Given the description of an element on the screen output the (x, y) to click on. 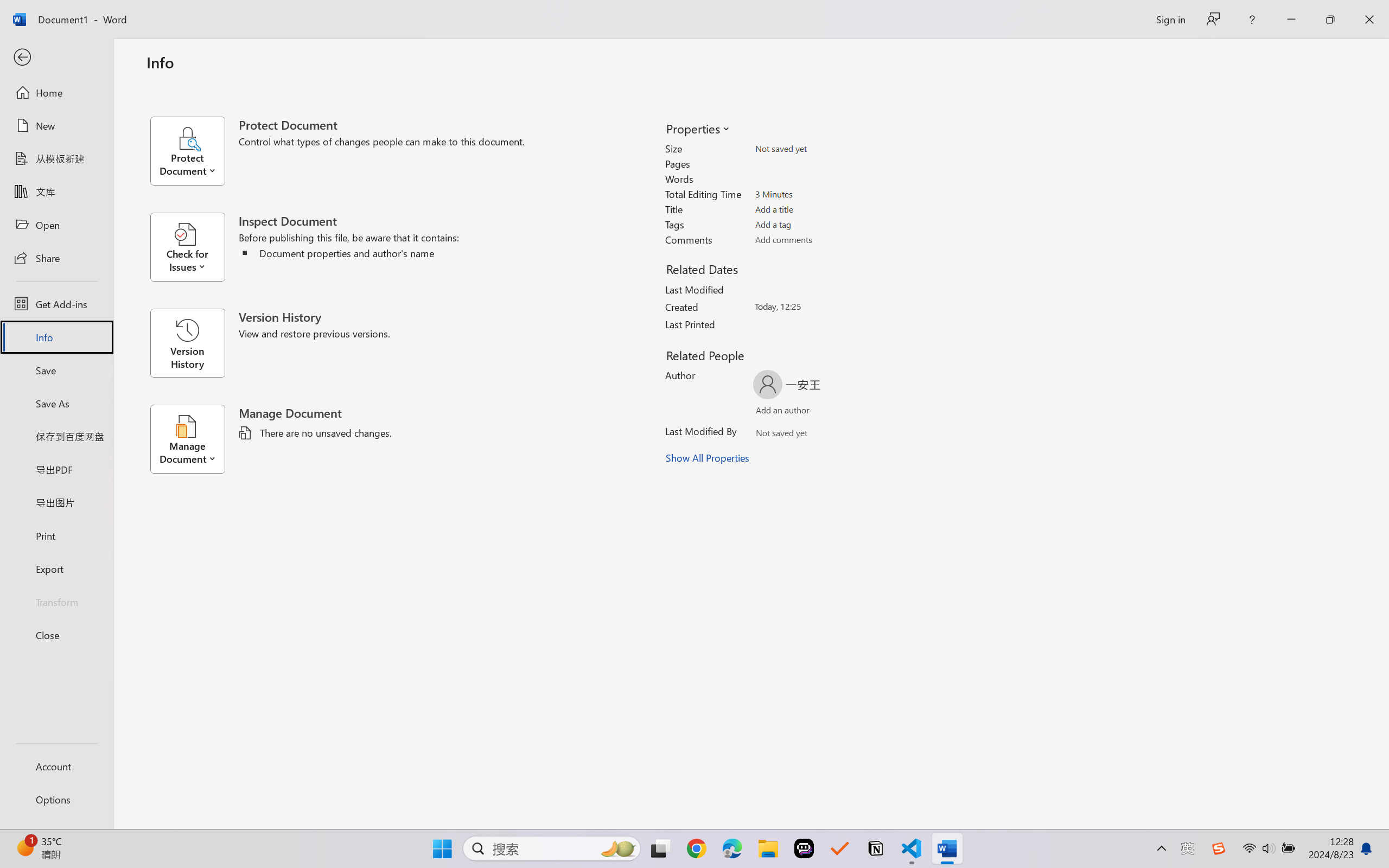
Pages (818, 163)
Add an author (772, 411)
Not saved yet (772, 434)
Tags (818, 223)
